Given the description of an element on the screen output the (x, y) to click on. 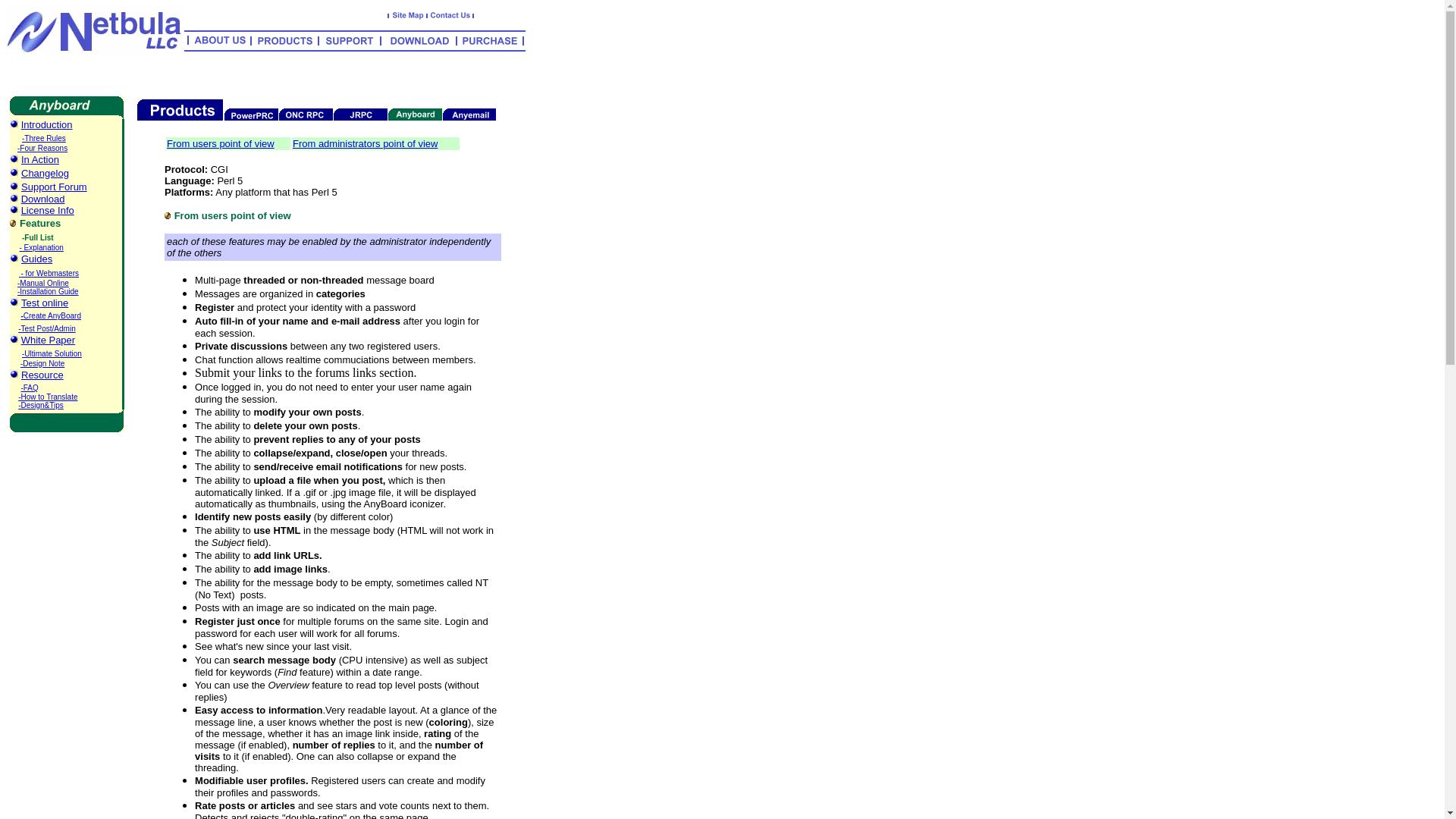
From administrators point of view (365, 143)
- Explanation (42, 247)
-How to Translate (47, 397)
Download (43, 198)
-Three Rules (43, 136)
From users point of view (221, 143)
-Installation Guide (47, 291)
Introduction (46, 124)
-Manual Online (42, 283)
Support Forum (54, 185)
In Action (40, 158)
License Info (47, 210)
Create AnyBoard (52, 316)
Resource (42, 373)
Guides (36, 257)
